Given the description of an element on the screen output the (x, y) to click on. 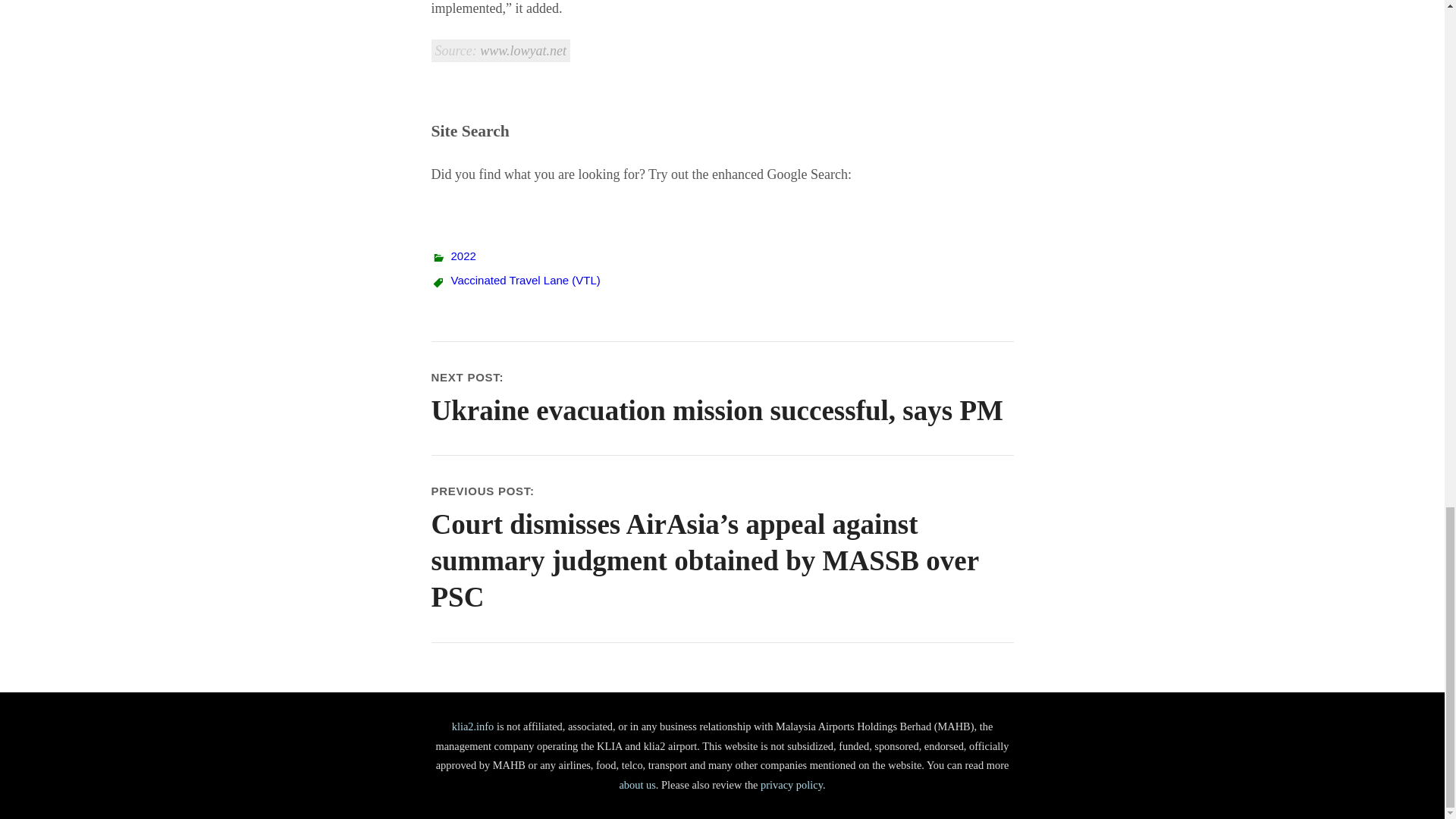
privacy policy (791, 784)
about us (636, 784)
www.lowyat.net (523, 50)
2022 (462, 255)
klia2.info (473, 726)
